Given the description of an element on the screen output the (x, y) to click on. 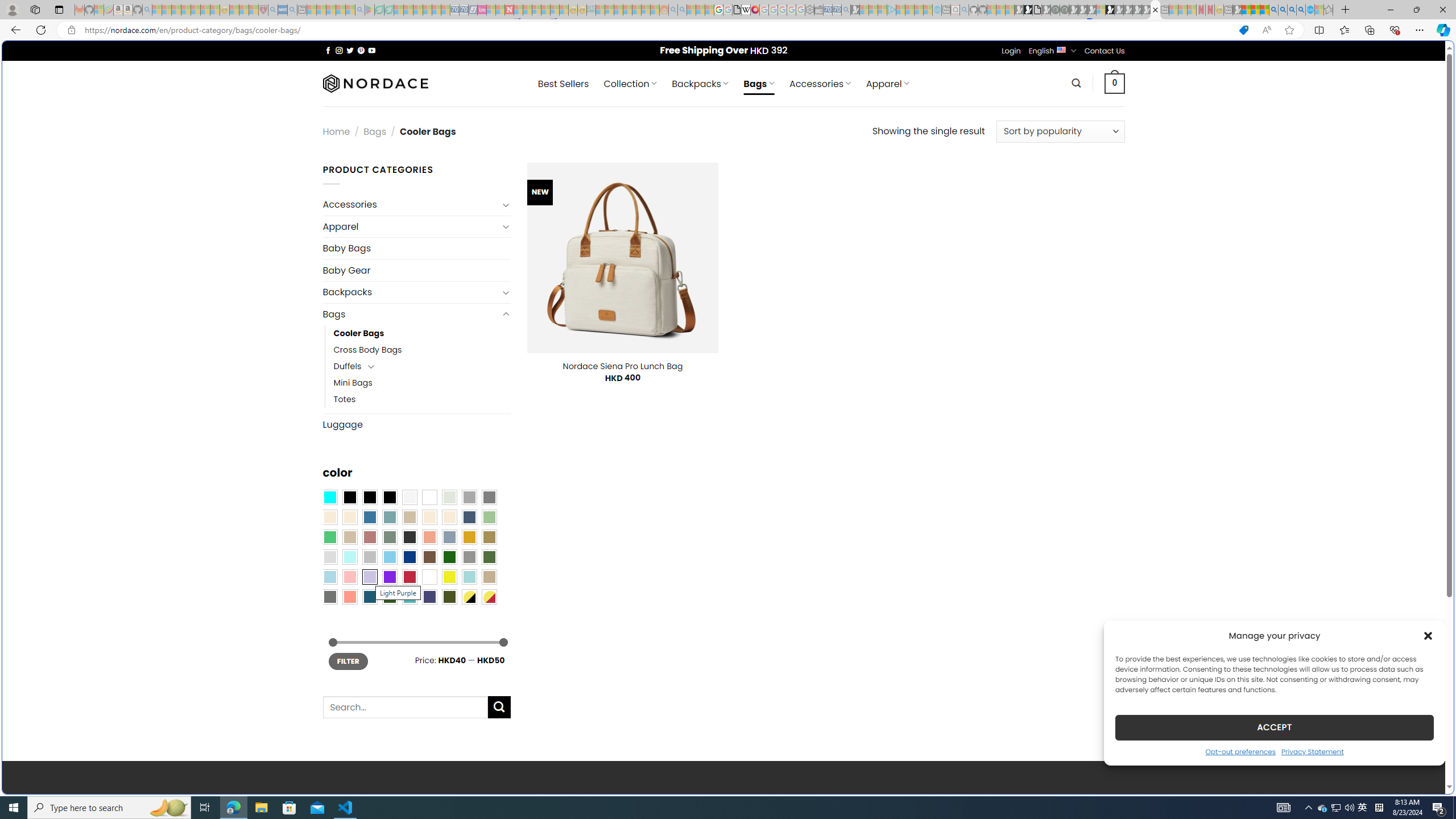
Ash Gray (449, 497)
Search or enter web address (922, 108)
White (429, 577)
Light Taupe (349, 536)
14 Common Myths Debunked By Scientific Facts - Sleeping (527, 9)
Peach Pink (349, 596)
Favorites - Sleeping (1328, 9)
Microsoft Start Gaming - Sleeping (854, 9)
